Given the description of an element on the screen output the (x, y) to click on. 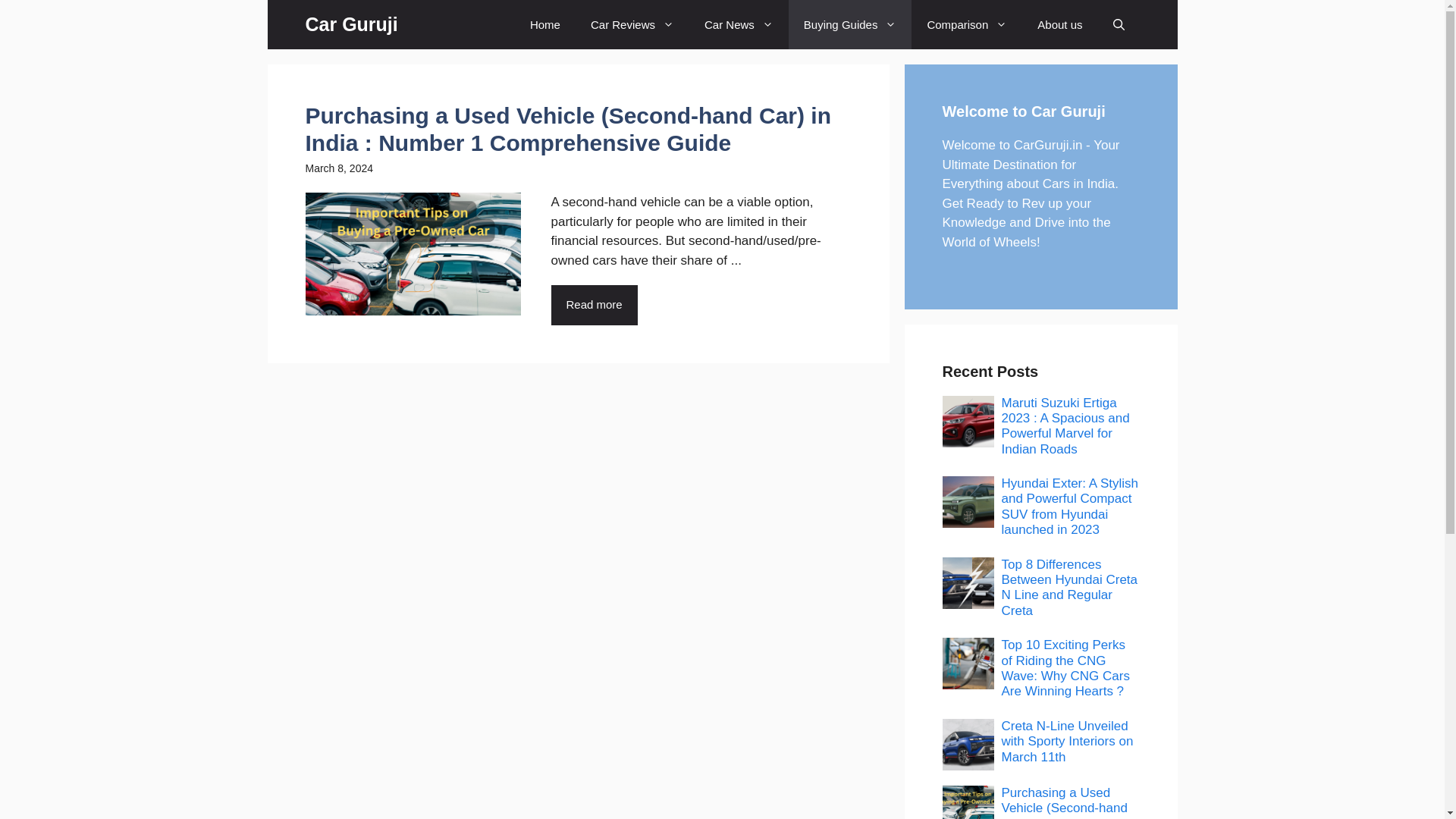
Car Reviews (631, 24)
Creta N-Line Unveiled with Sporty Interiors on March 11th (1066, 741)
Comparison (966, 24)
Car News (738, 24)
Read more (593, 305)
Home (545, 24)
Buying Guides (850, 24)
Car Guruji (350, 24)
About us (1059, 24)
